Given the description of an element on the screen output the (x, y) to click on. 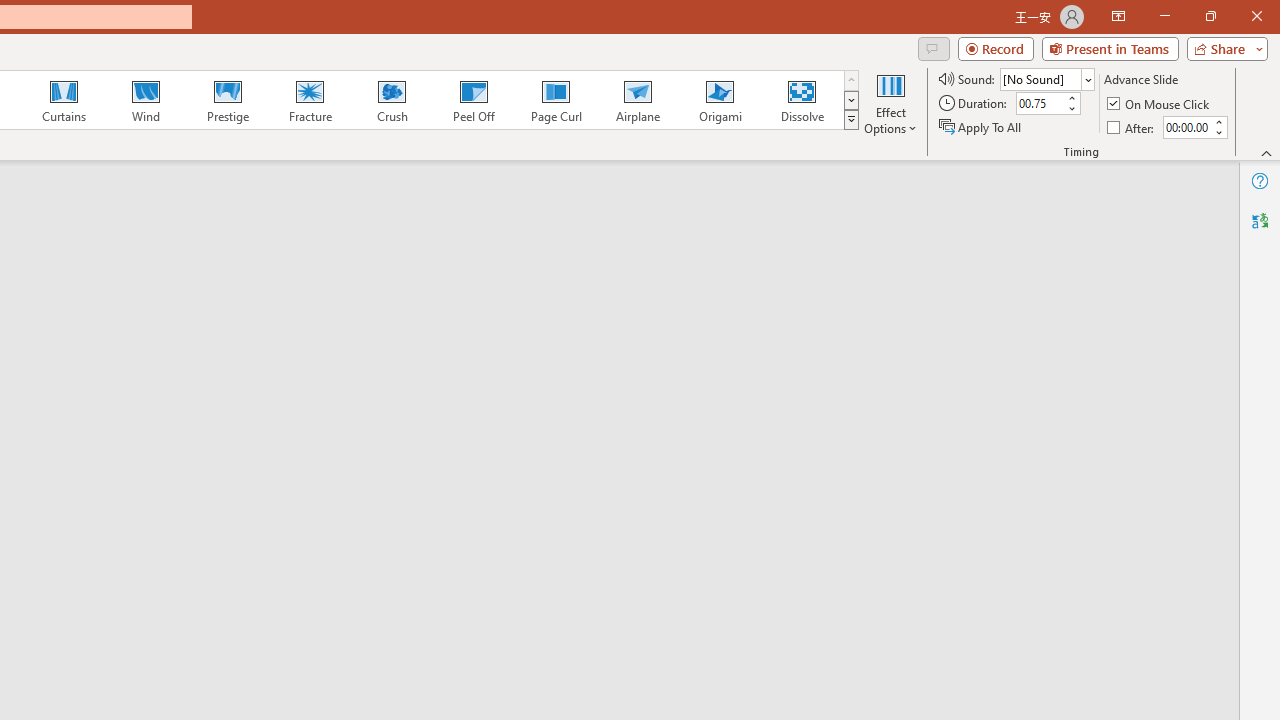
Page Curl (555, 100)
After (1186, 127)
Sound (1046, 78)
Airplane (637, 100)
Curtains (63, 100)
Effect Options (890, 102)
